Given the description of an element on the screen output the (x, y) to click on. 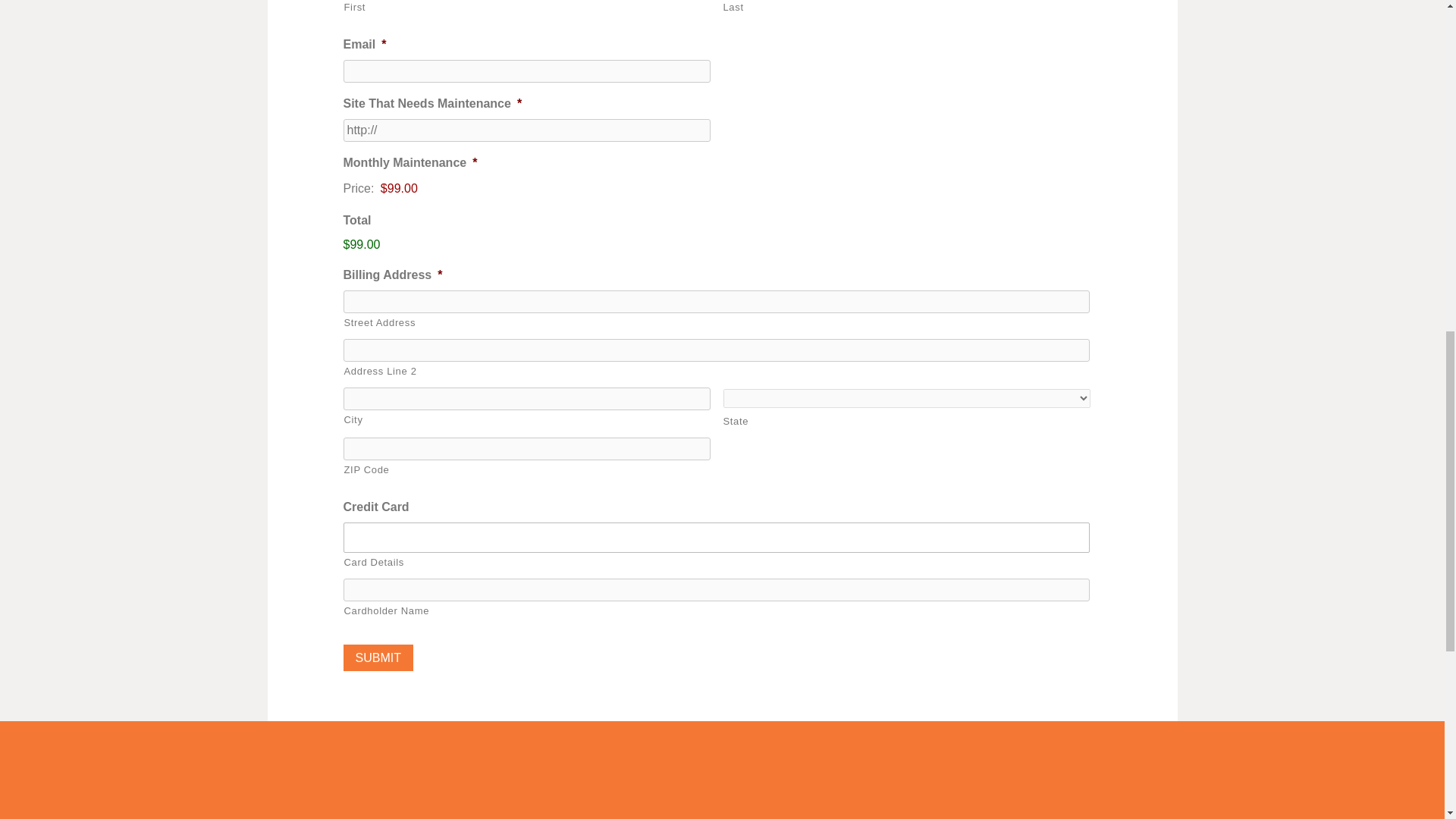
Submit (377, 657)
Secure payment input frame (716, 536)
Submit (377, 657)
